Given the description of an element on the screen output the (x, y) to click on. 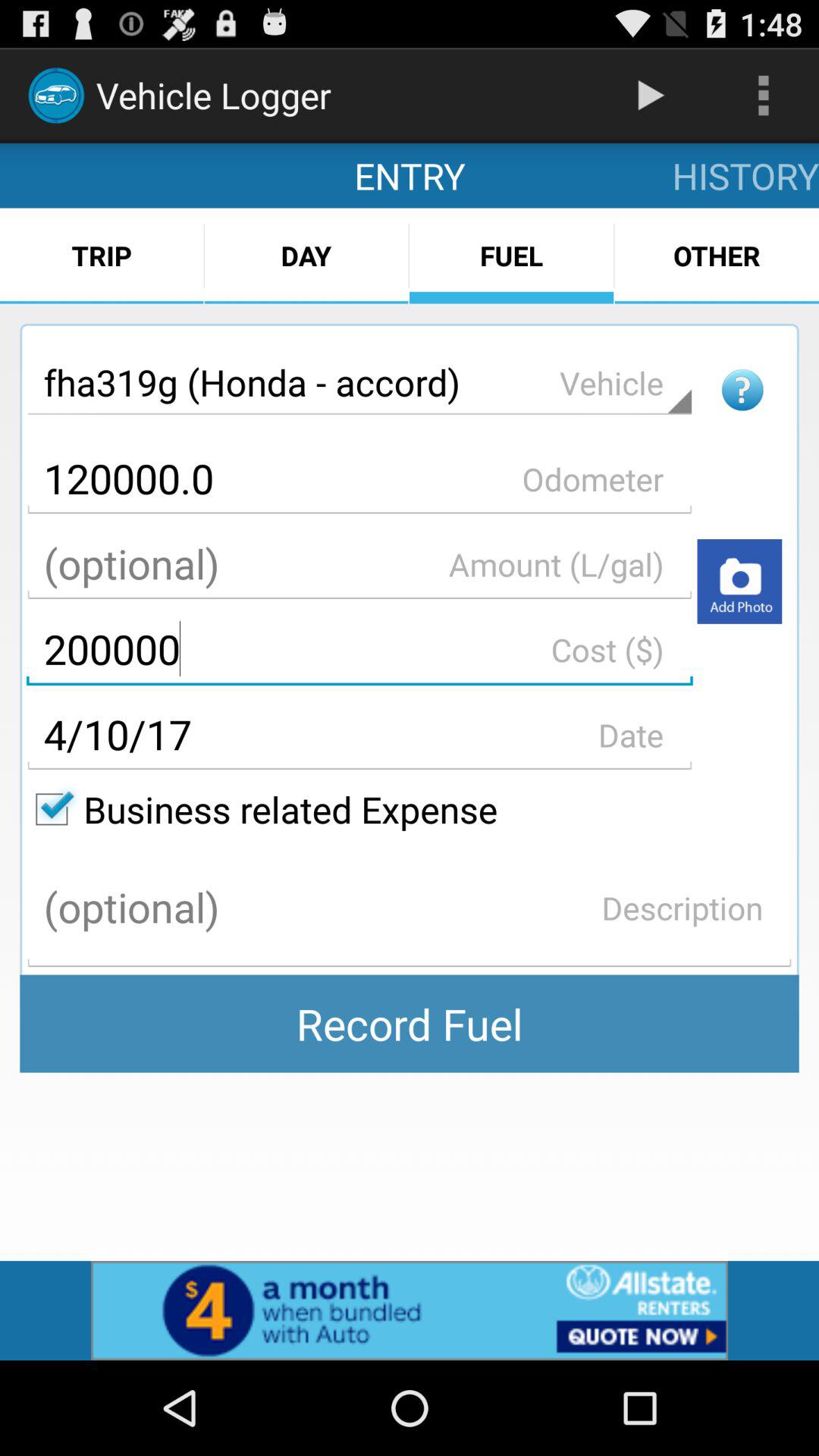
enter amount (359, 563)
